Given the description of an element on the screen output the (x, y) to click on. 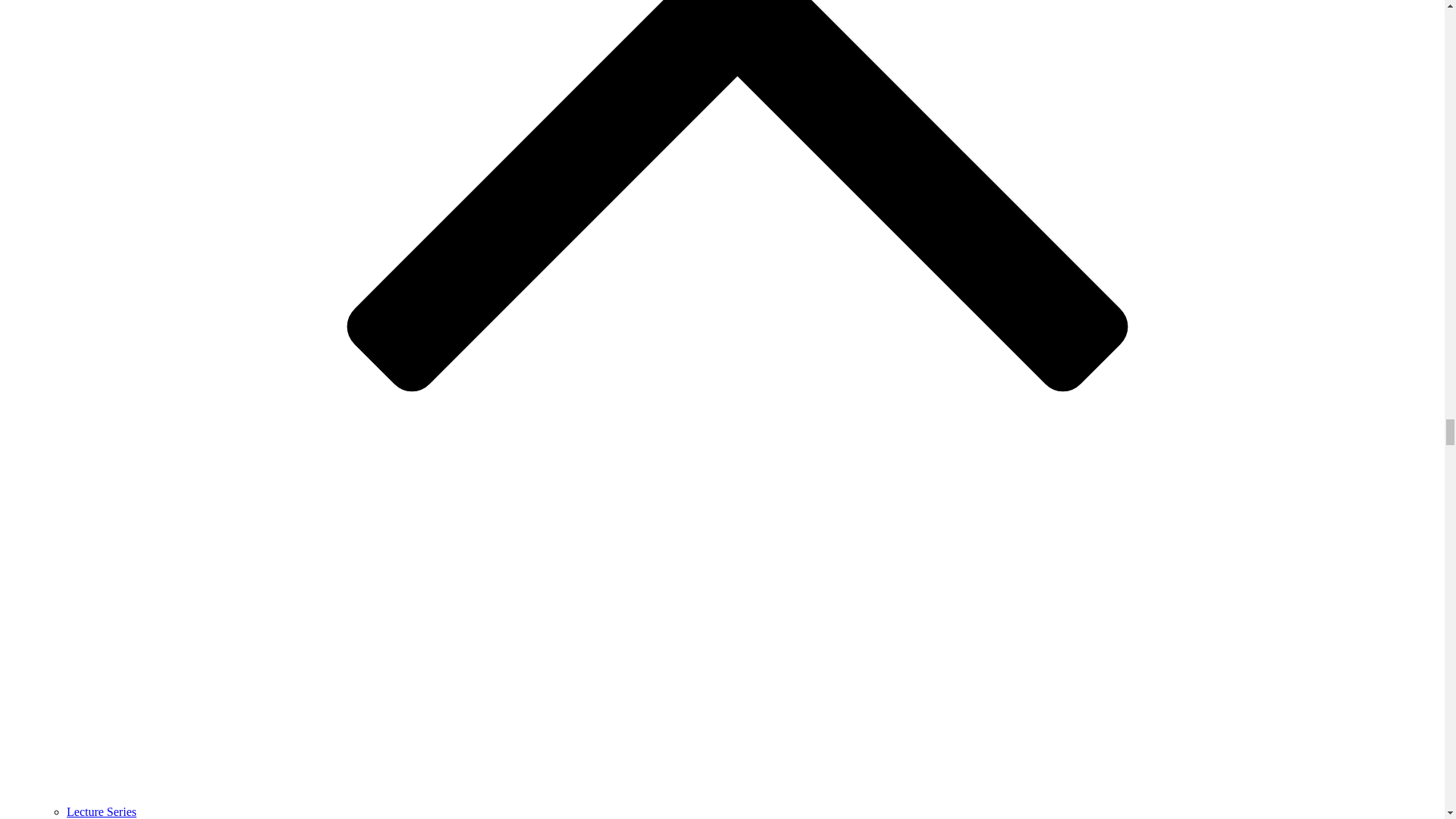
Lecture Series (101, 811)
